Given the description of an element on the screen output the (x, y) to click on. 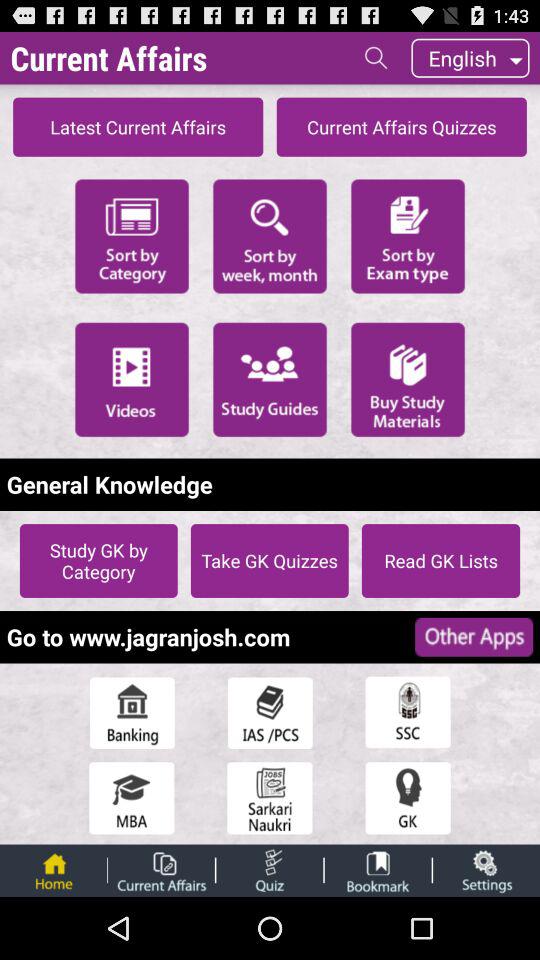
choose the item next to english icon (375, 57)
